Given the description of an element on the screen output the (x, y) to click on. 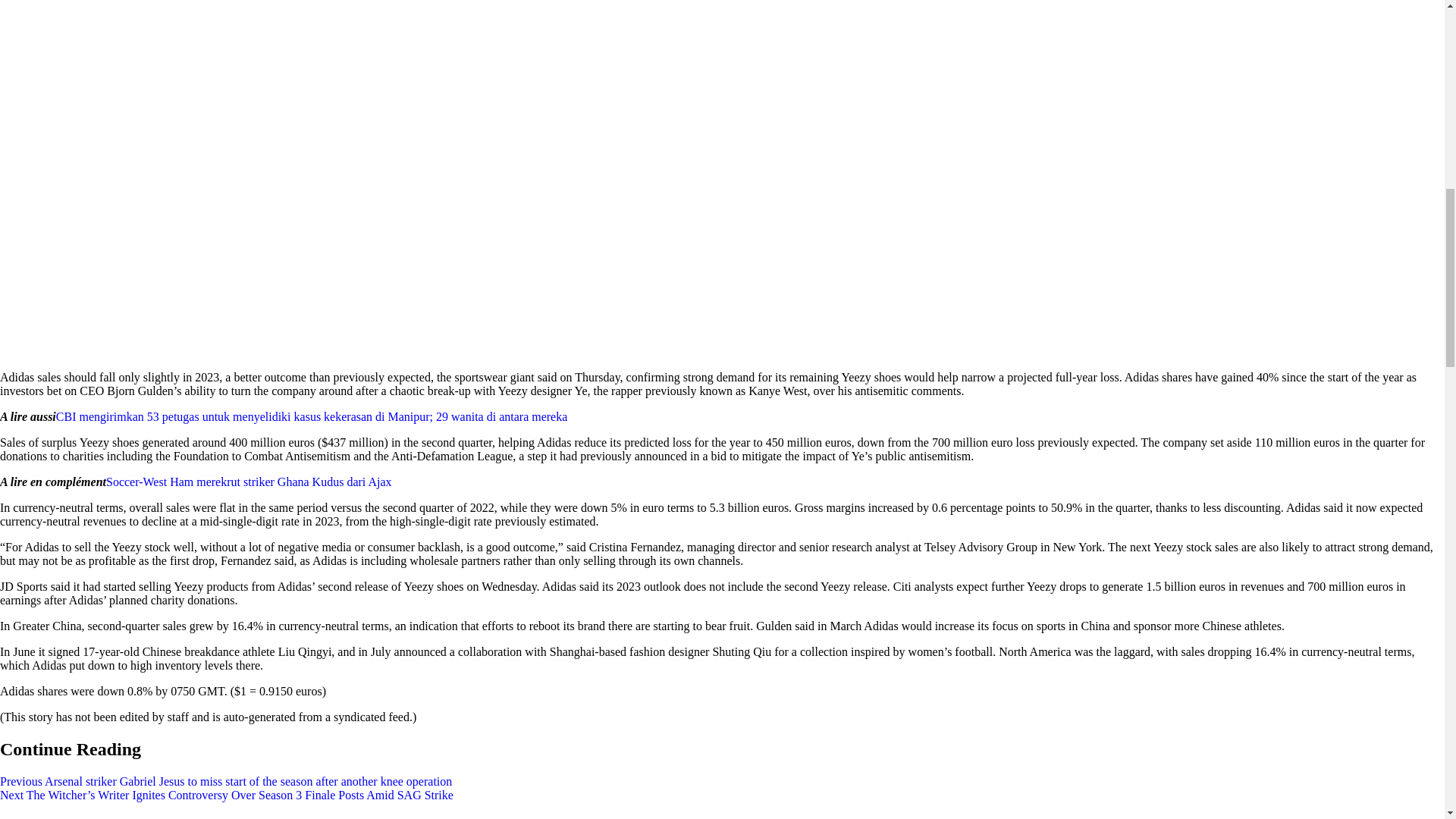
Soccer-West Ham merekrut striker Ghana Kudus dari Ajax (248, 481)
Soccer-West Ham merekrut striker Ghana Kudus dari Ajax (248, 481)
